Given the description of an element on the screen output the (x, y) to click on. 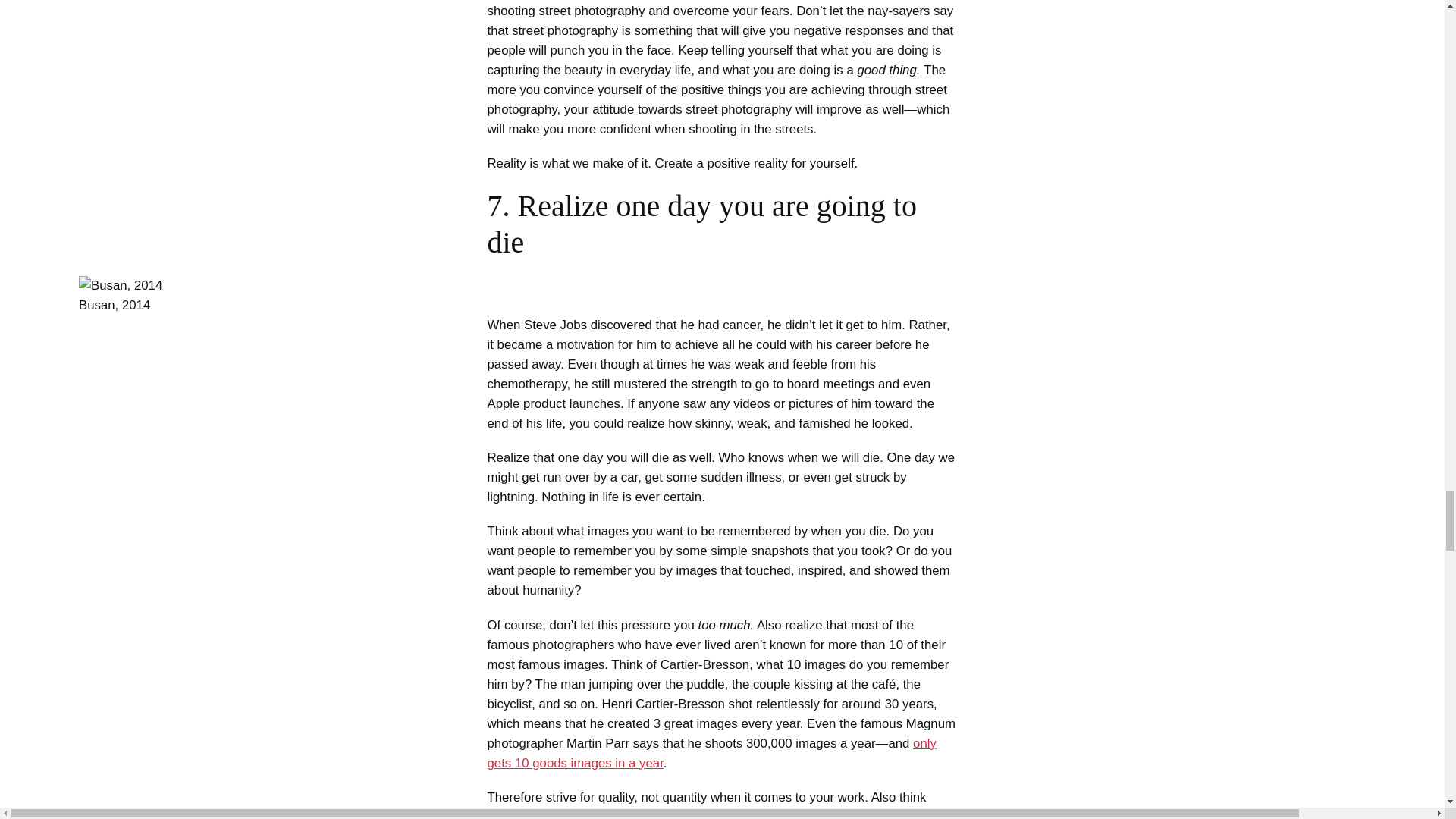
only gets 10 goods images in a year (711, 753)
